Given the description of an element on the screen output the (x, y) to click on. 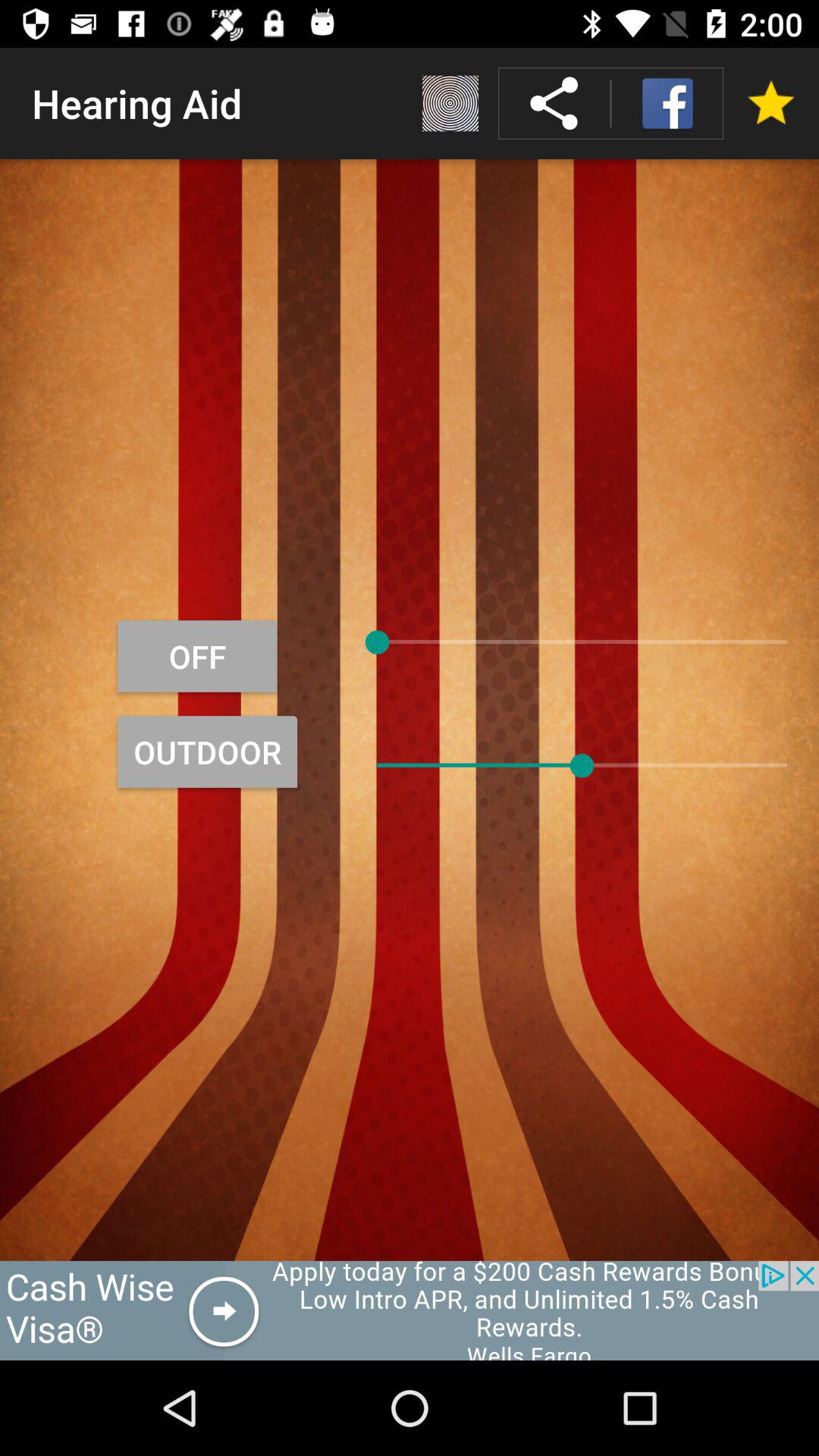
open visa advertisement (409, 1310)
